Given the description of an element on the screen output the (x, y) to click on. 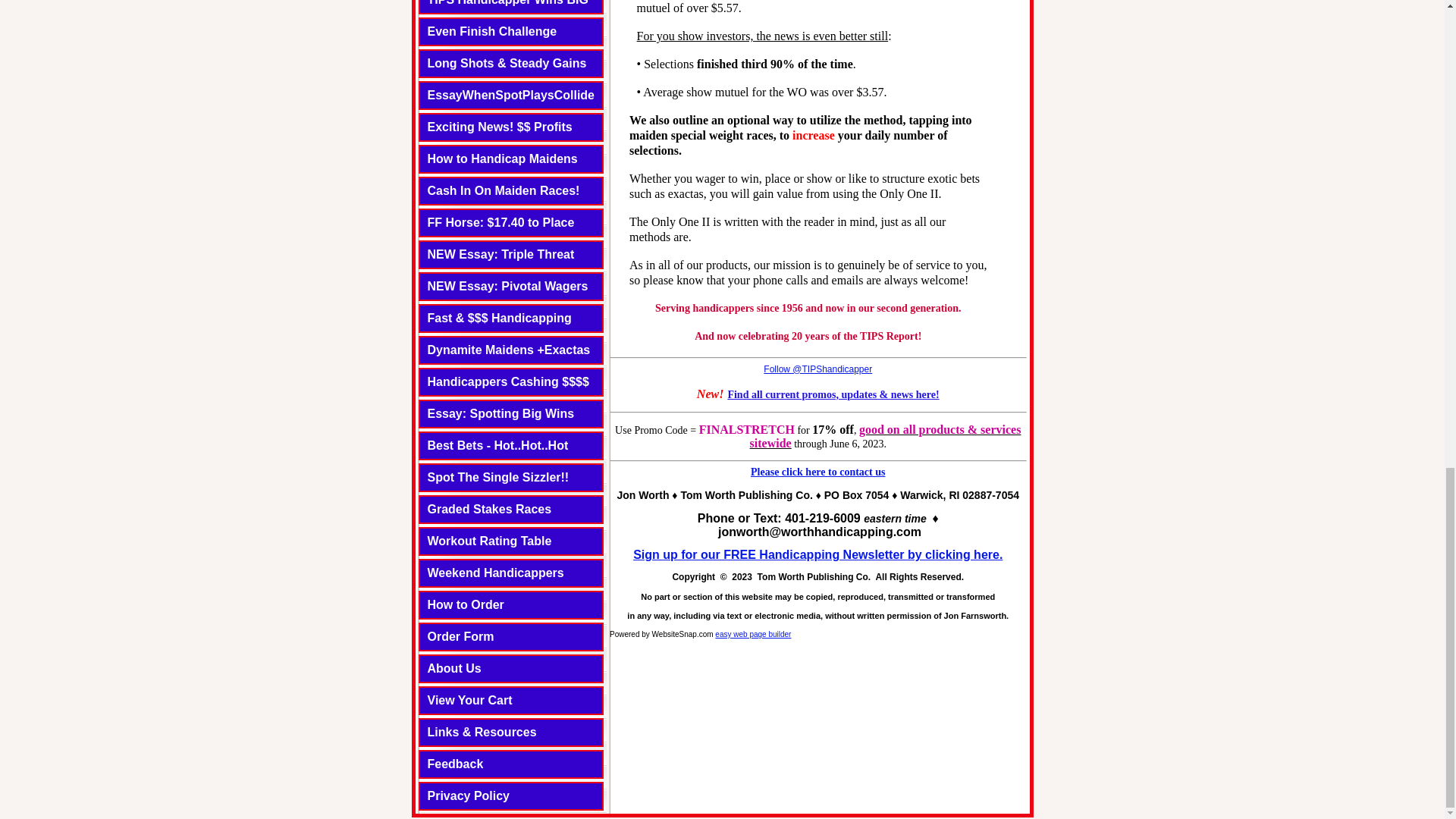
TIPS Handicapper Wins BIG (508, 2)
NEW Essay: Triple Threat (501, 254)
Even Finish Challenge (492, 31)
EssayWhenSpotPlaysCollide (511, 94)
Cash In On Maiden Races! (503, 190)
How to Handicap Maidens (503, 158)
